Given the description of an element on the screen output the (x, y) to click on. 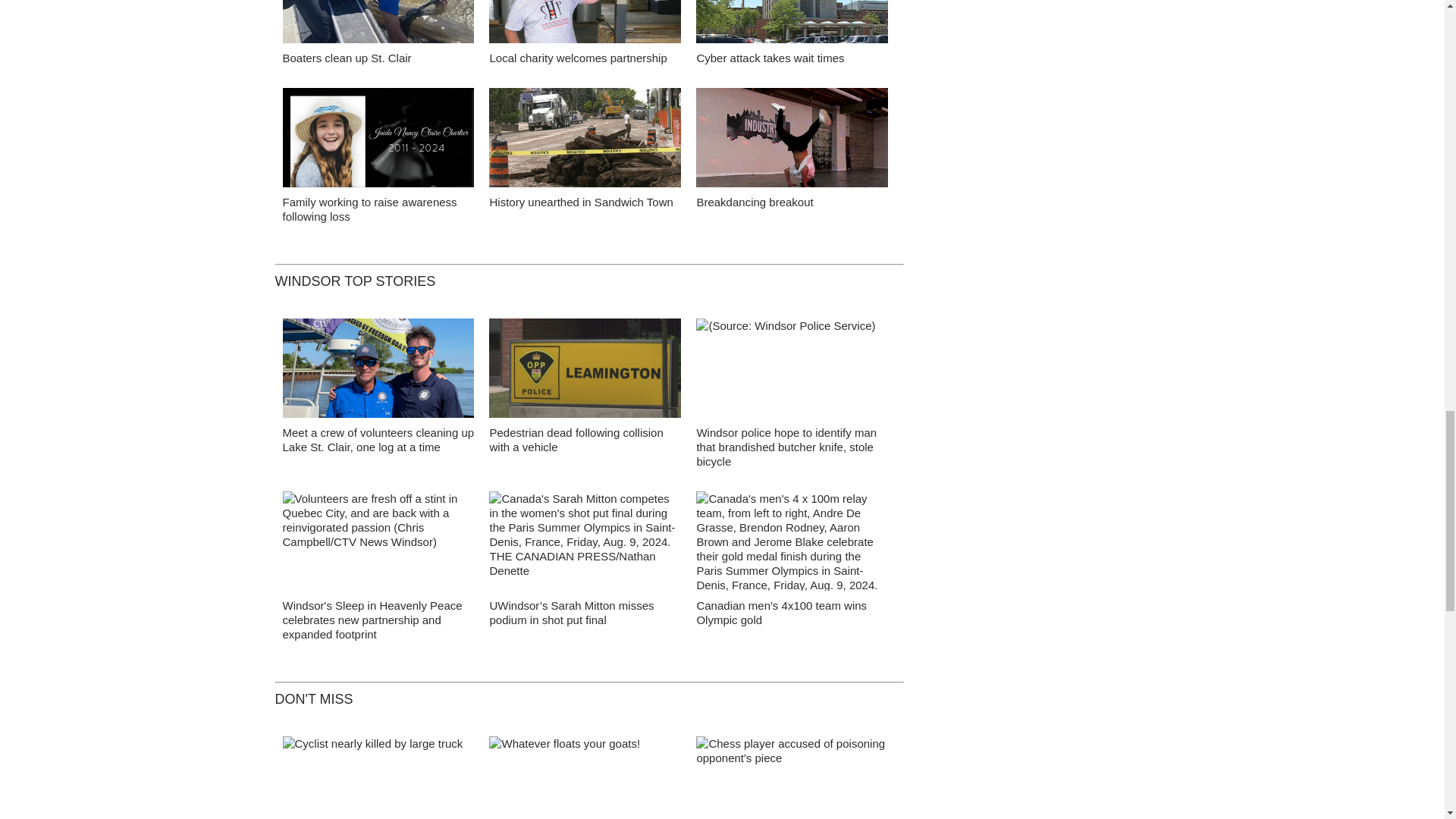
Family working to raise awareness following loss (369, 208)
St Clair Hazard Mitigation Team (378, 371)
History unearthed in Sandwich Town (585, 141)
false (585, 21)
false (378, 137)
Breakdancing breakout (791, 141)
Leamington OPP (585, 371)
Local charity welcomes partnership (585, 26)
Boaters clean up St. Clair (346, 57)
